Given the description of an element on the screen output the (x, y) to click on. 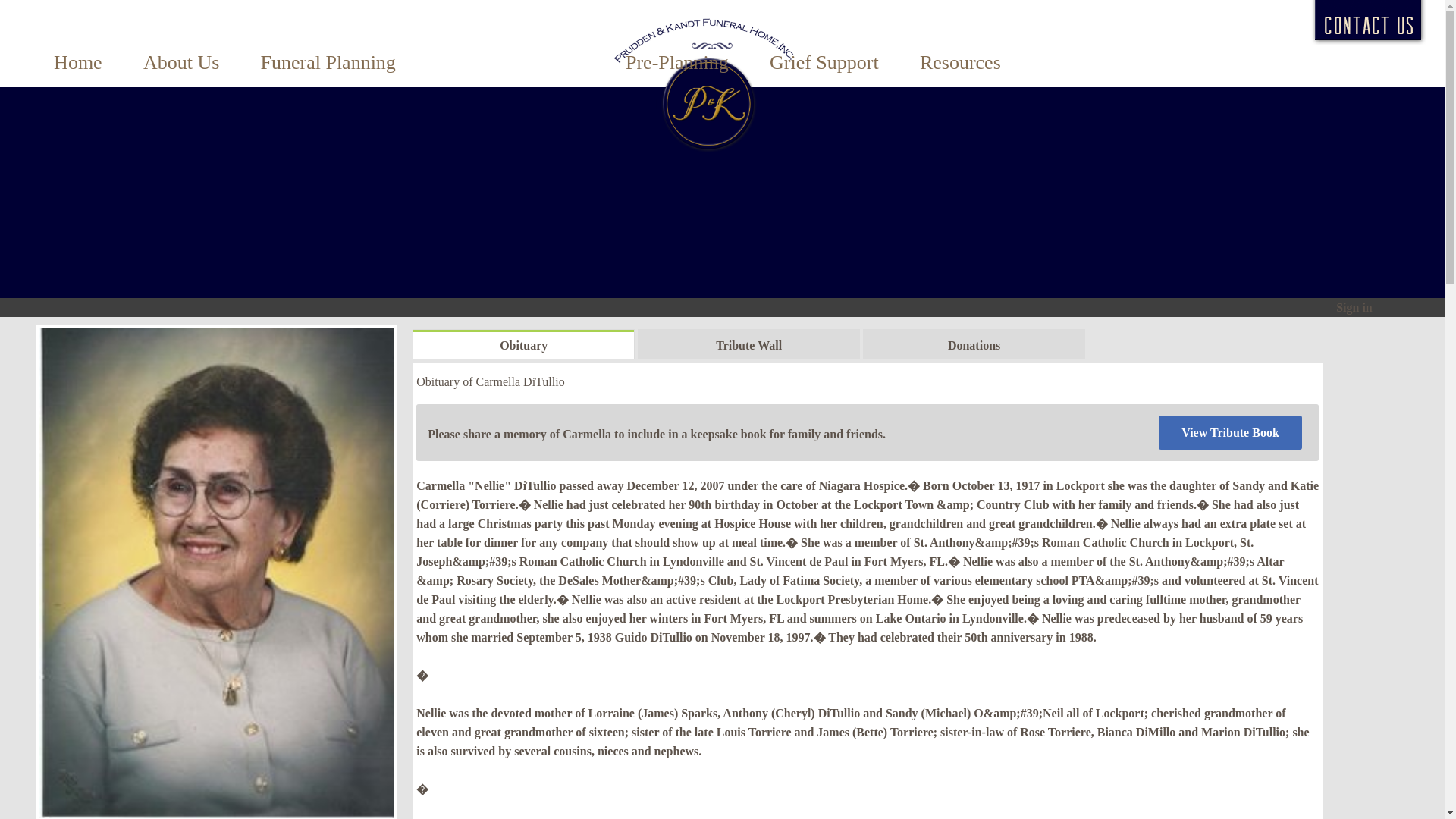
Resources (959, 64)
About Us (180, 64)
Pre-Planning (676, 64)
Sign in (1354, 307)
Funeral Planning (327, 64)
Home (77, 64)
Grief Support (823, 64)
